Given the description of an element on the screen output the (x, y) to click on. 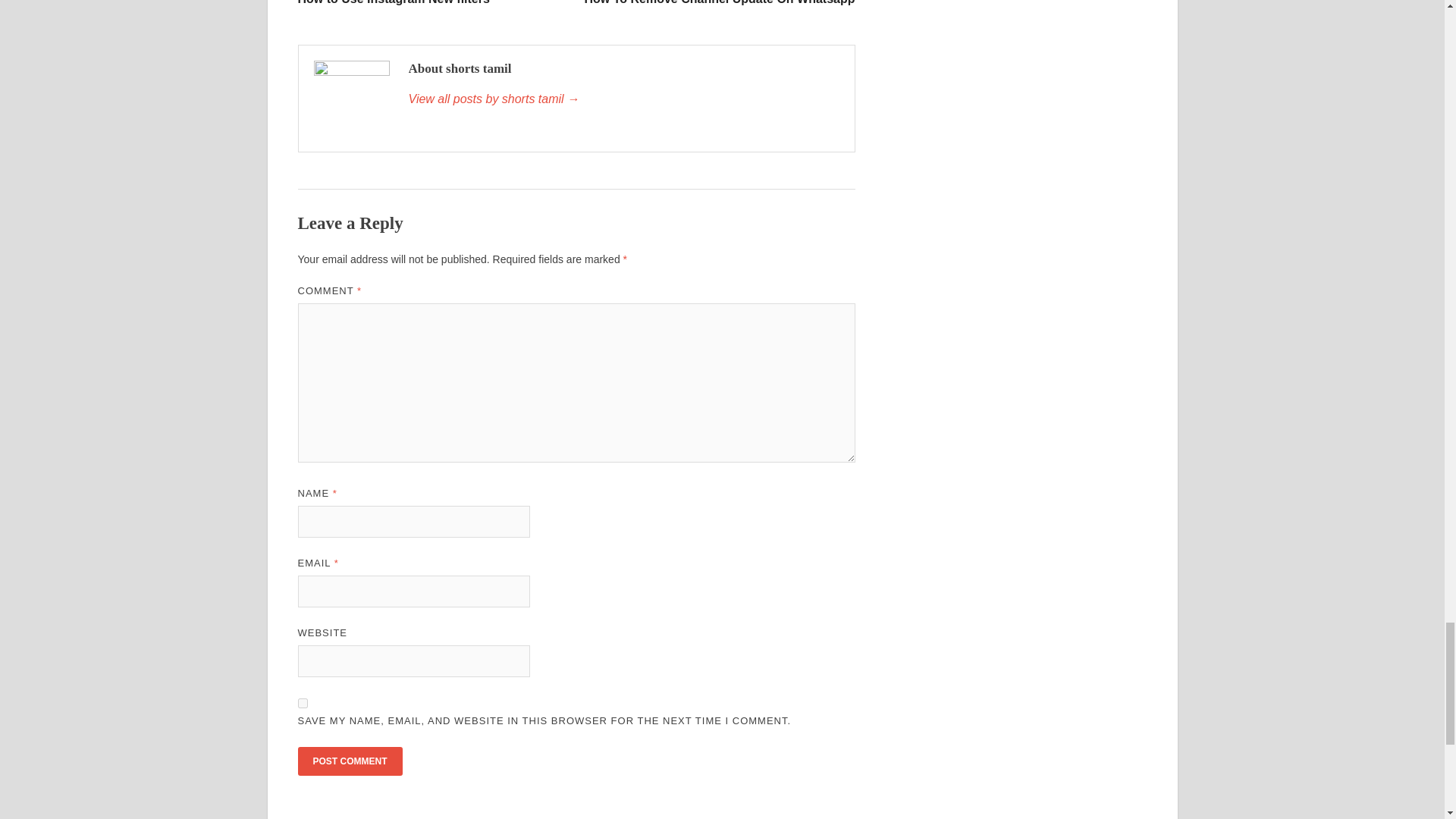
yes (434, 2)
Post Comment (717, 2)
Post Comment (302, 703)
shorts tamil (349, 760)
